Given the description of an element on the screen output the (x, y) to click on. 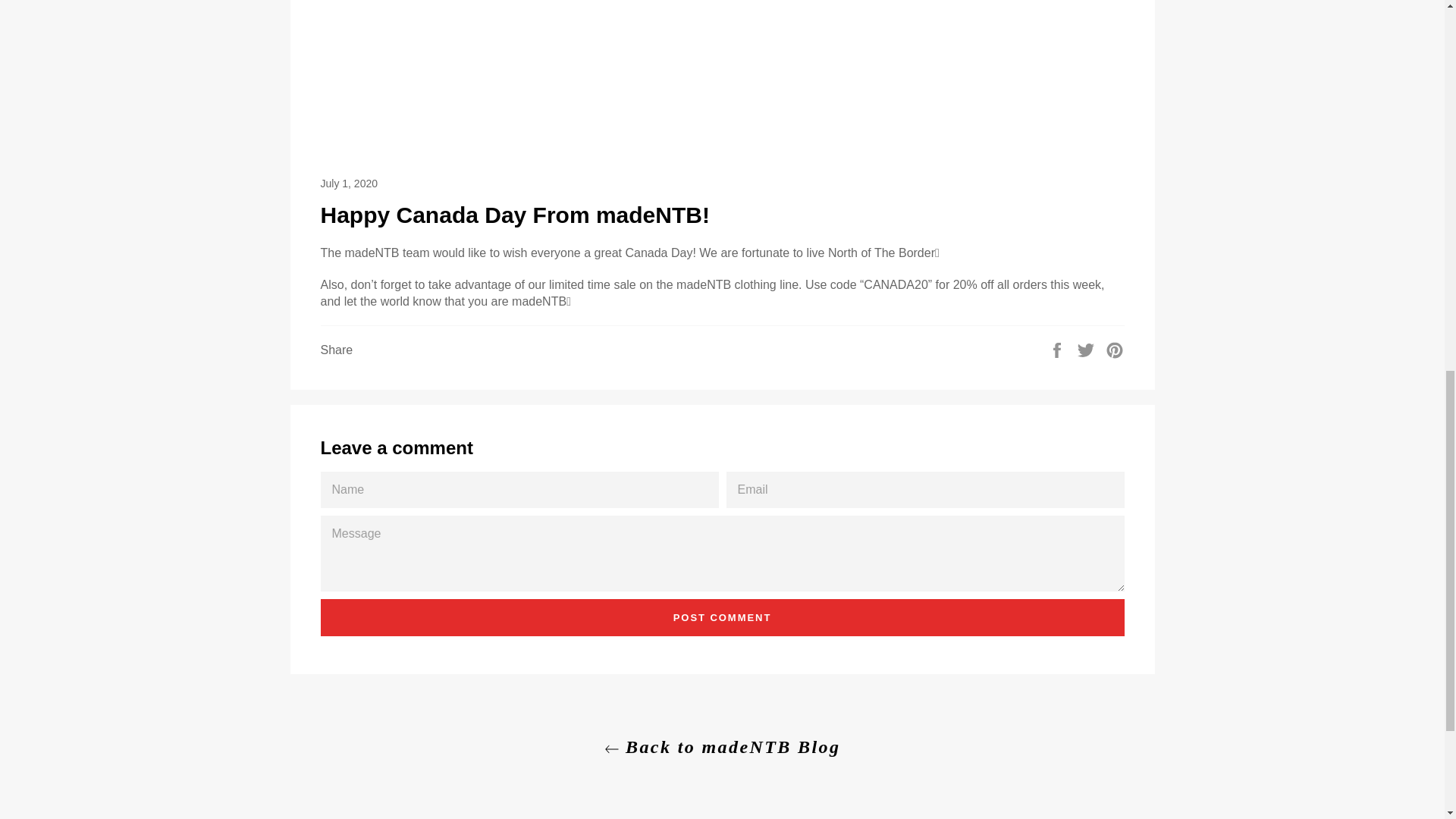
Pin on Pinterest (1114, 349)
Tweet on Twitter (1087, 349)
Post comment (722, 617)
Share on Facebook (1058, 349)
Post comment (722, 617)
Back to madeNTB Blog (721, 747)
Share on Facebook (1058, 349)
Tweet on Twitter (1087, 349)
Pin on Pinterest (1114, 349)
